Given the description of an element on the screen output the (x, y) to click on. 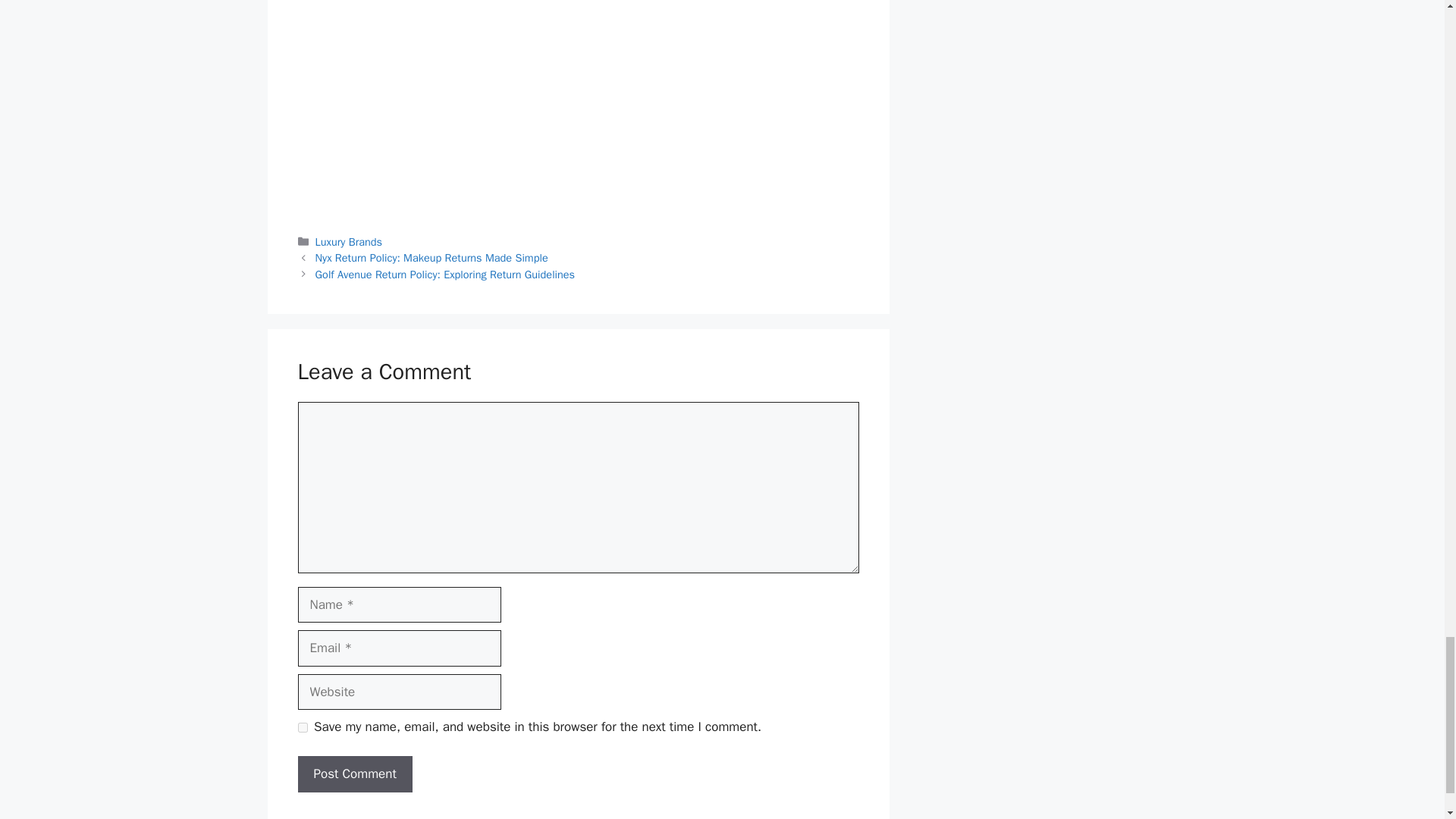
Luxury Brands (348, 241)
Nyx Return Policy: Makeup Returns Made Simple (431, 257)
Post Comment (354, 773)
Golf Avenue Return Policy: Exploring Return Guidelines (445, 274)
yes (302, 727)
Post Comment (354, 773)
